Given the description of an element on the screen output the (x, y) to click on. 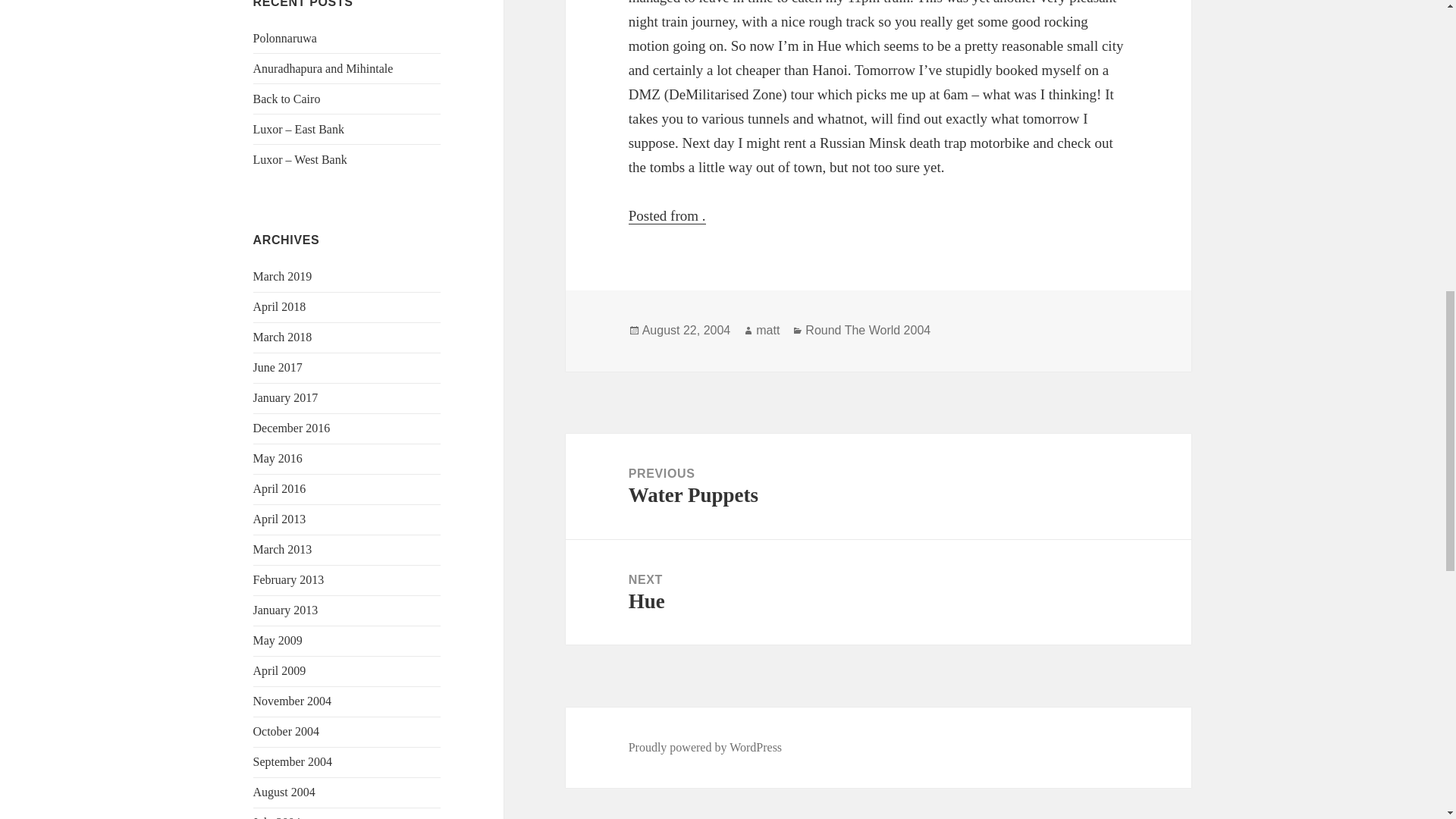
April 2013 (279, 518)
March 2013 (283, 549)
August 2004 (284, 791)
May 2016 (277, 458)
December 2016 (291, 427)
March 2019 (283, 276)
September 2004 (292, 761)
June 2017 (277, 367)
April 2009 (279, 670)
Back to Cairo (286, 98)
January 2013 (285, 609)
February 2013 (288, 579)
Anuradhapura and Mihintale (323, 68)
November 2004 (292, 700)
Polonnaruwa (285, 38)
